Given the description of an element on the screen output the (x, y) to click on. 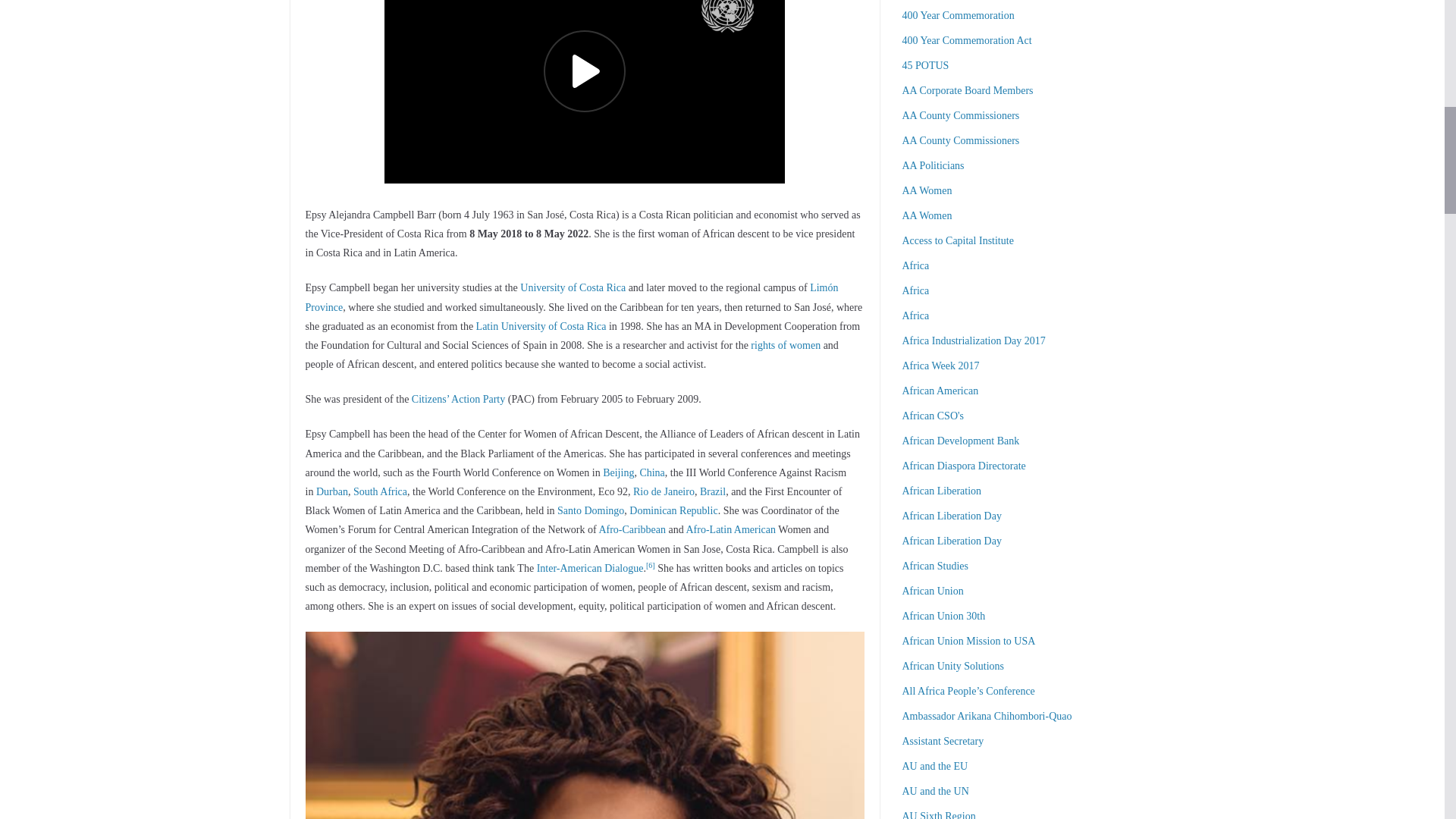
South Africa (380, 491)
Latin University of Costa Rica (541, 326)
University of Costa Rica (572, 287)
Beijing (617, 472)
Santo Domingo (590, 510)
China (651, 472)
Durban (331, 491)
Women's rights (786, 345)
Dominican Republic (672, 510)
Rio de Janeiro (663, 491)
Brazil (712, 491)
